Given the description of an element on the screen output the (x, y) to click on. 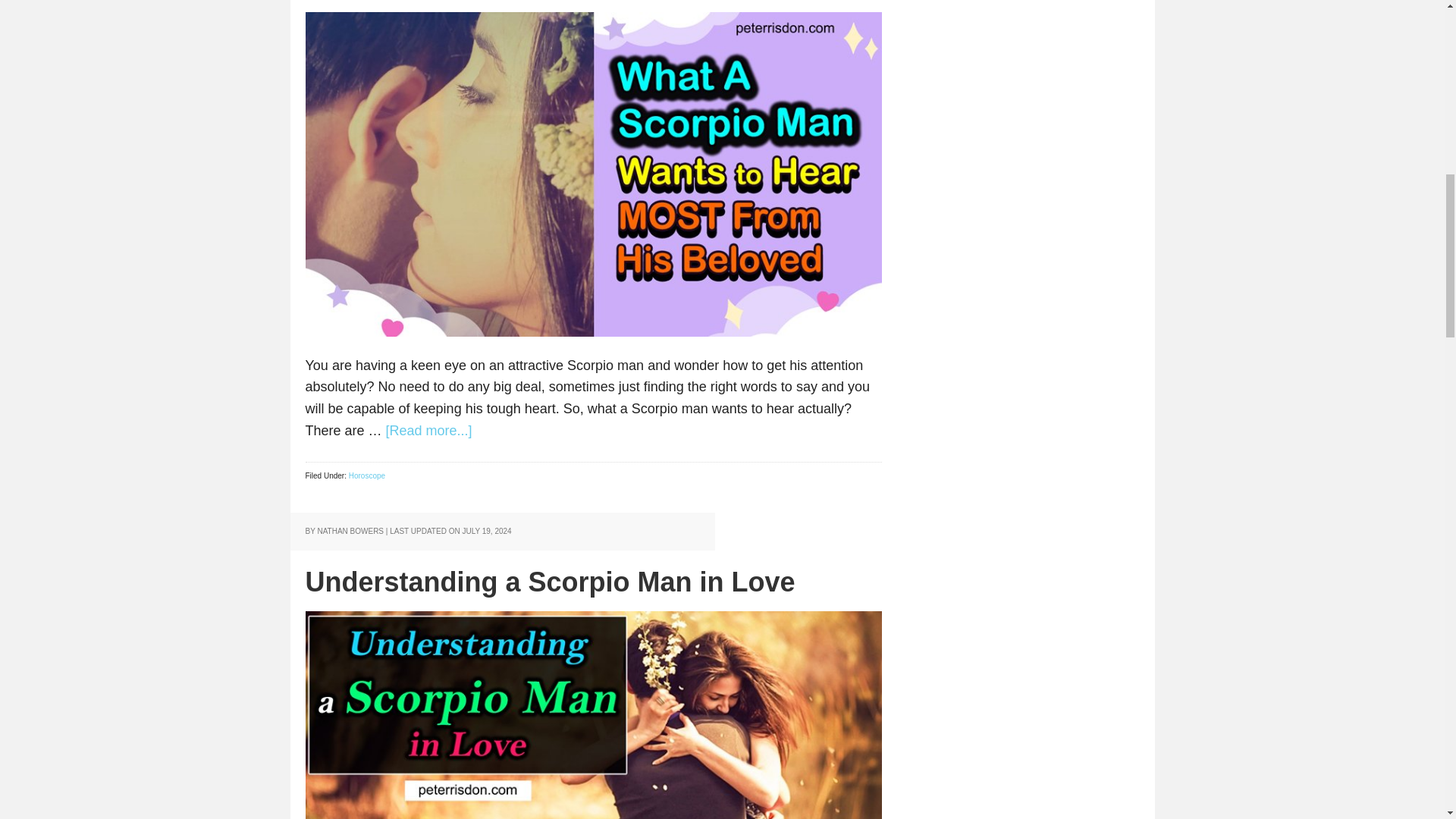
Understanding a Scorpio Man in Love (549, 581)
Horoscope (367, 475)
